Given the description of an element on the screen output the (x, y) to click on. 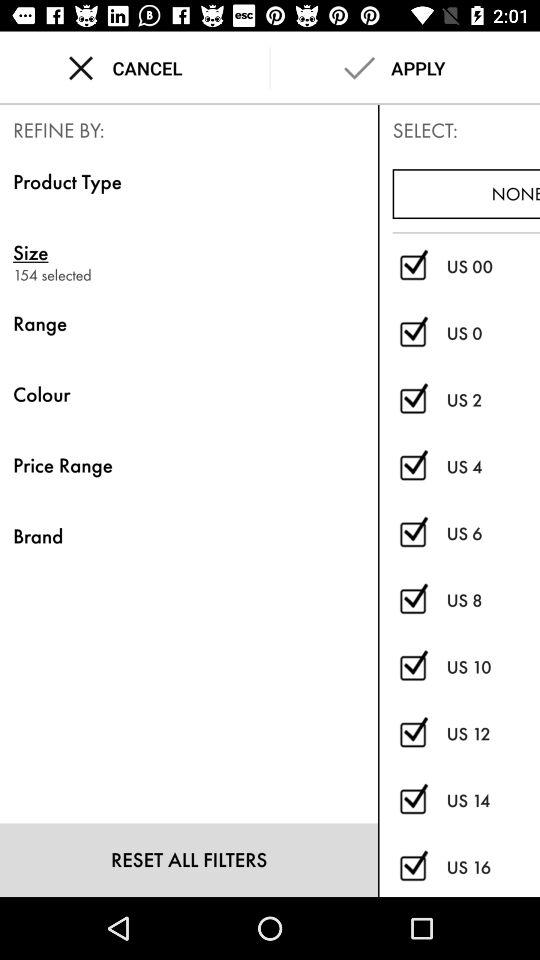
deselect option in search filter (412, 800)
